Given the description of an element on the screen output the (x, y) to click on. 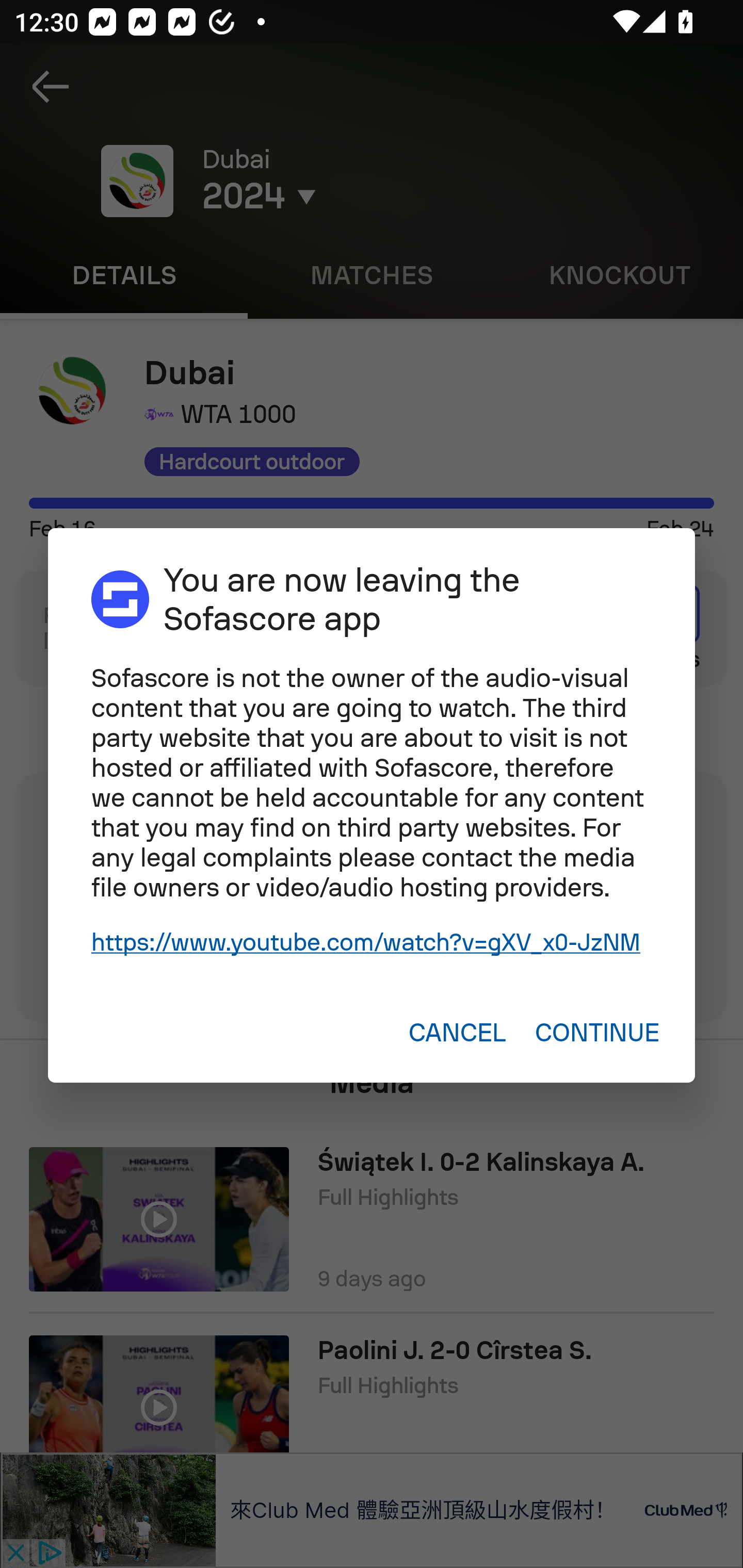
CANCEL (456, 1032)
CONTINUE (596, 1032)
